Given the description of an element on the screen output the (x, y) to click on. 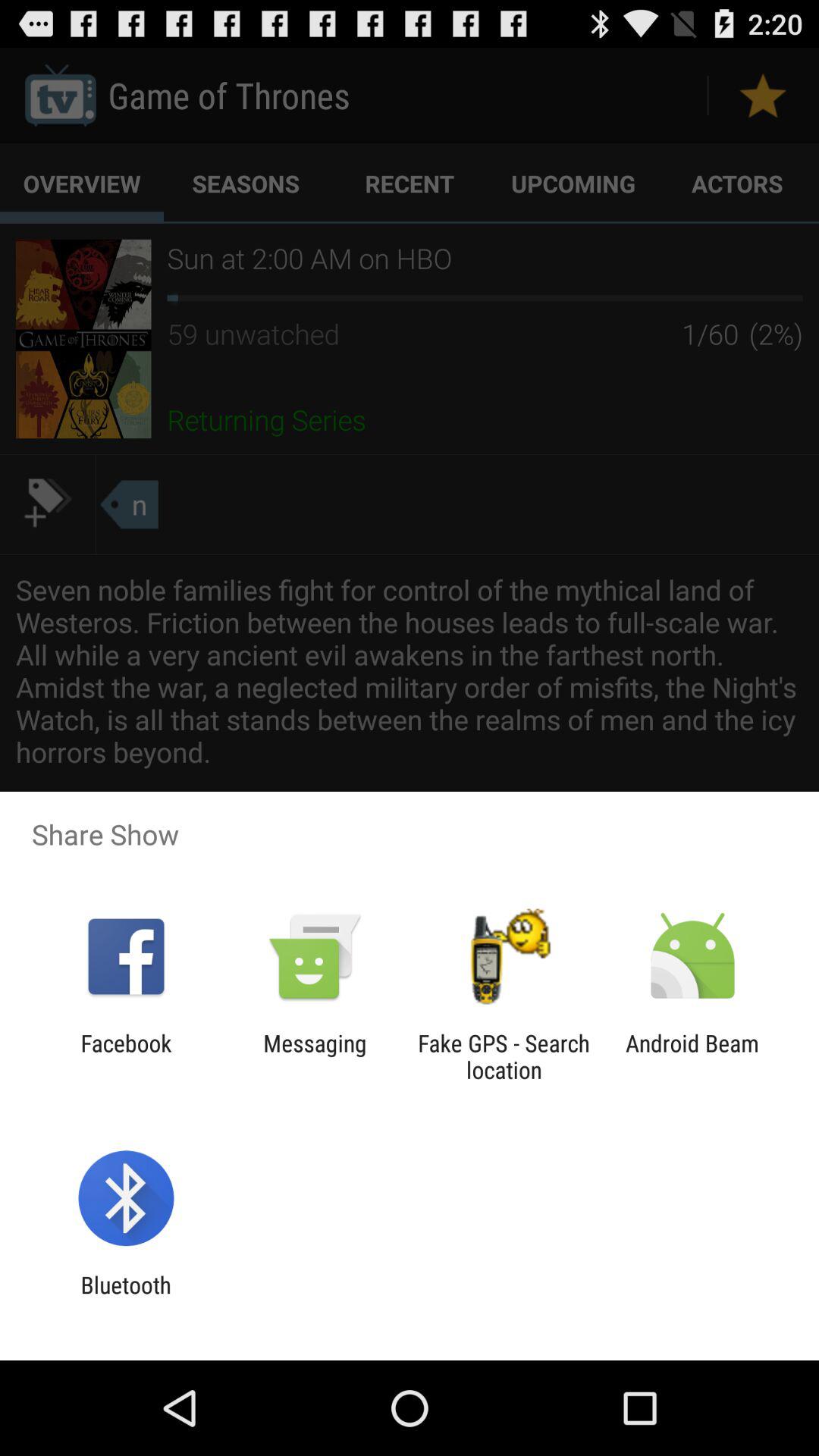
scroll to the fake gps search item (503, 1056)
